Given the description of an element on the screen output the (x, y) to click on. 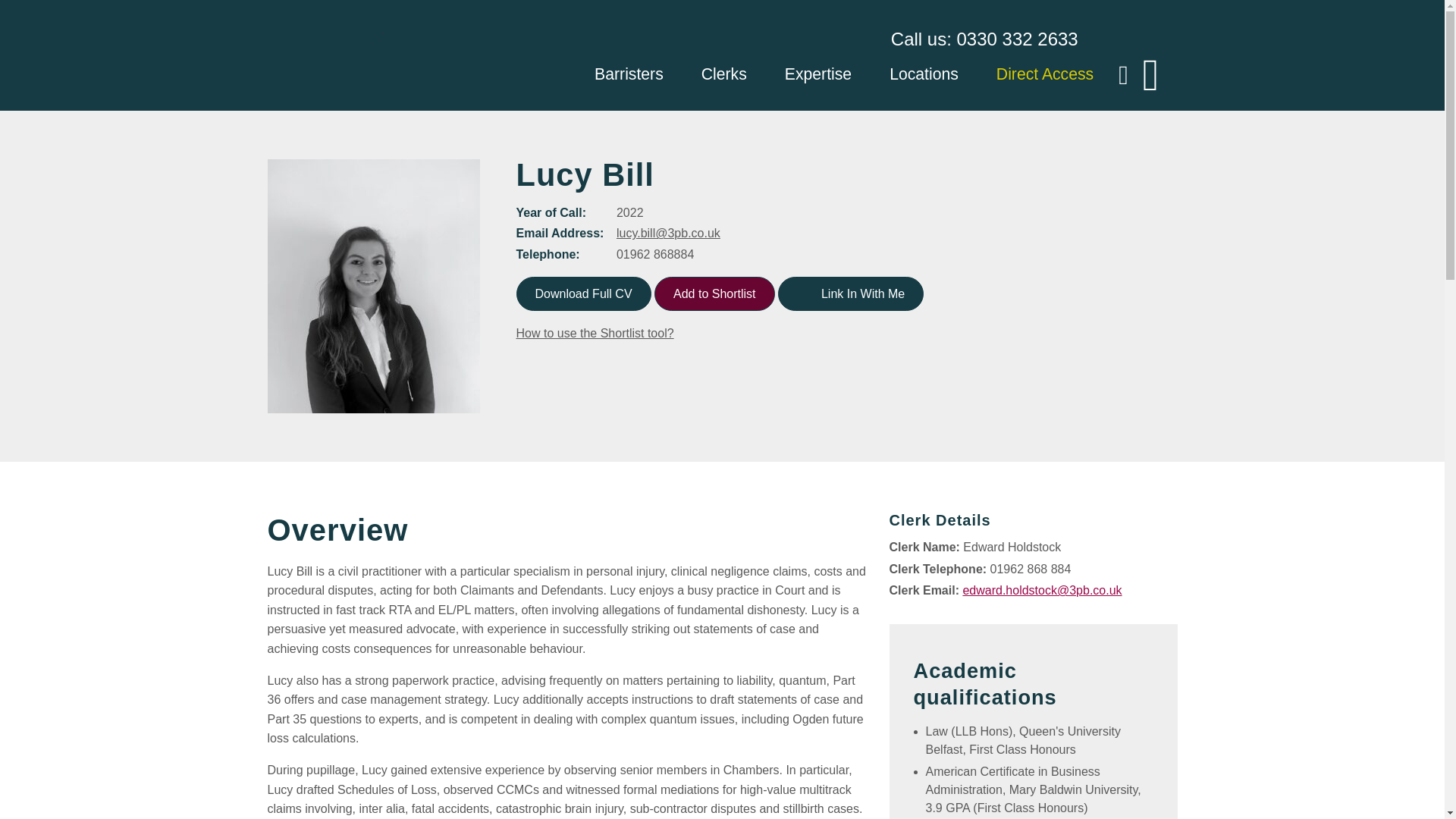
Locations (923, 75)
Call us: 0330 332 2633 (984, 38)
Barristers (628, 75)
Clerks (723, 75)
3PB Barristers (323, 55)
Direct Access (1044, 75)
Search (8, 9)
Expertise (817, 75)
